Given the description of an element on the screen output the (x, y) to click on. 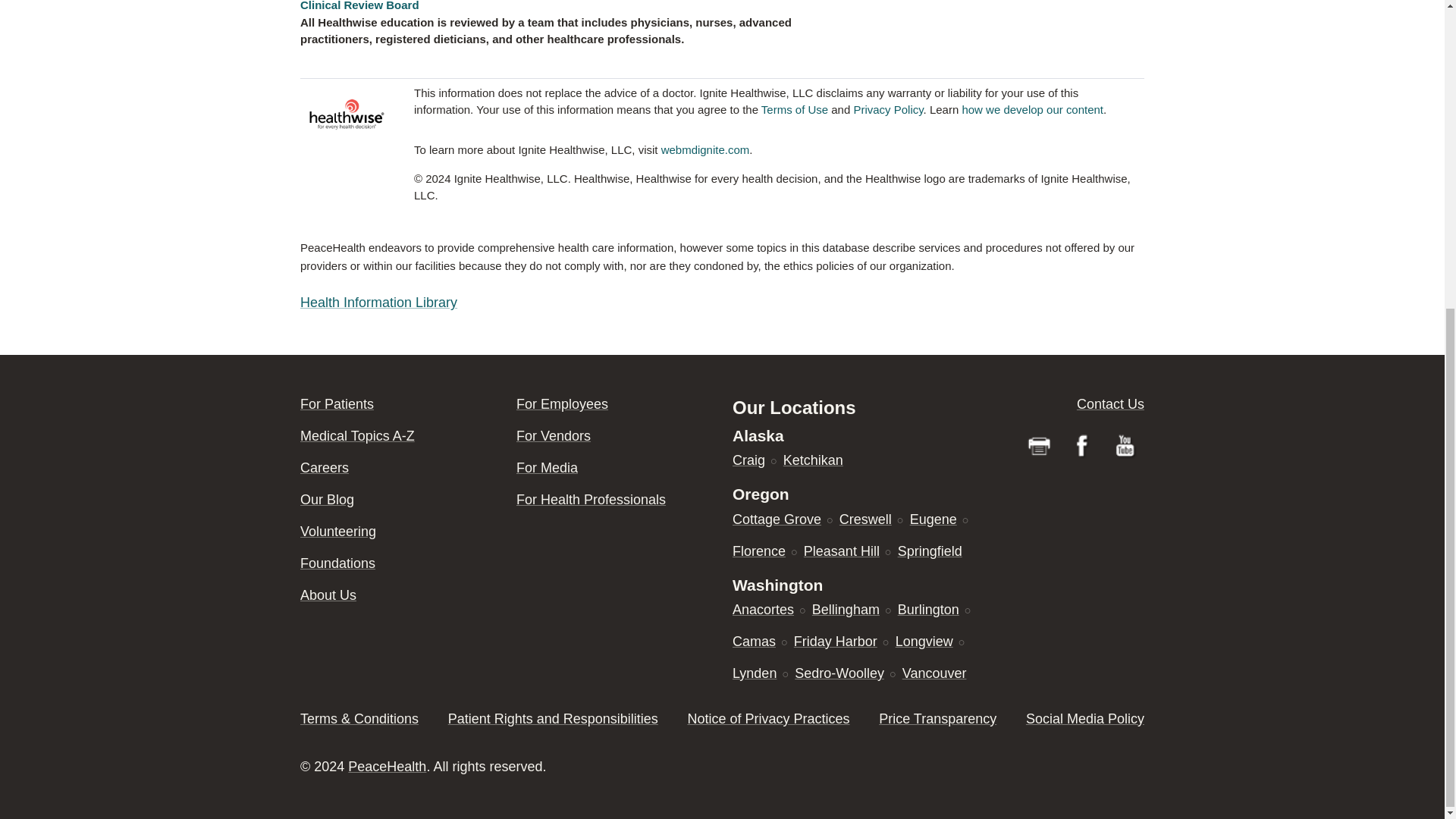
Careers (324, 467)
Our Blog (326, 499)
For Media (547, 467)
For Employees (562, 403)
Medical Topics A-Z (356, 435)
About Us (327, 595)
Privacy Policy (888, 109)
Information for vendors (553, 435)
Clinical Review Board (359, 5)
